Given the description of an element on the screen output the (x, y) to click on. 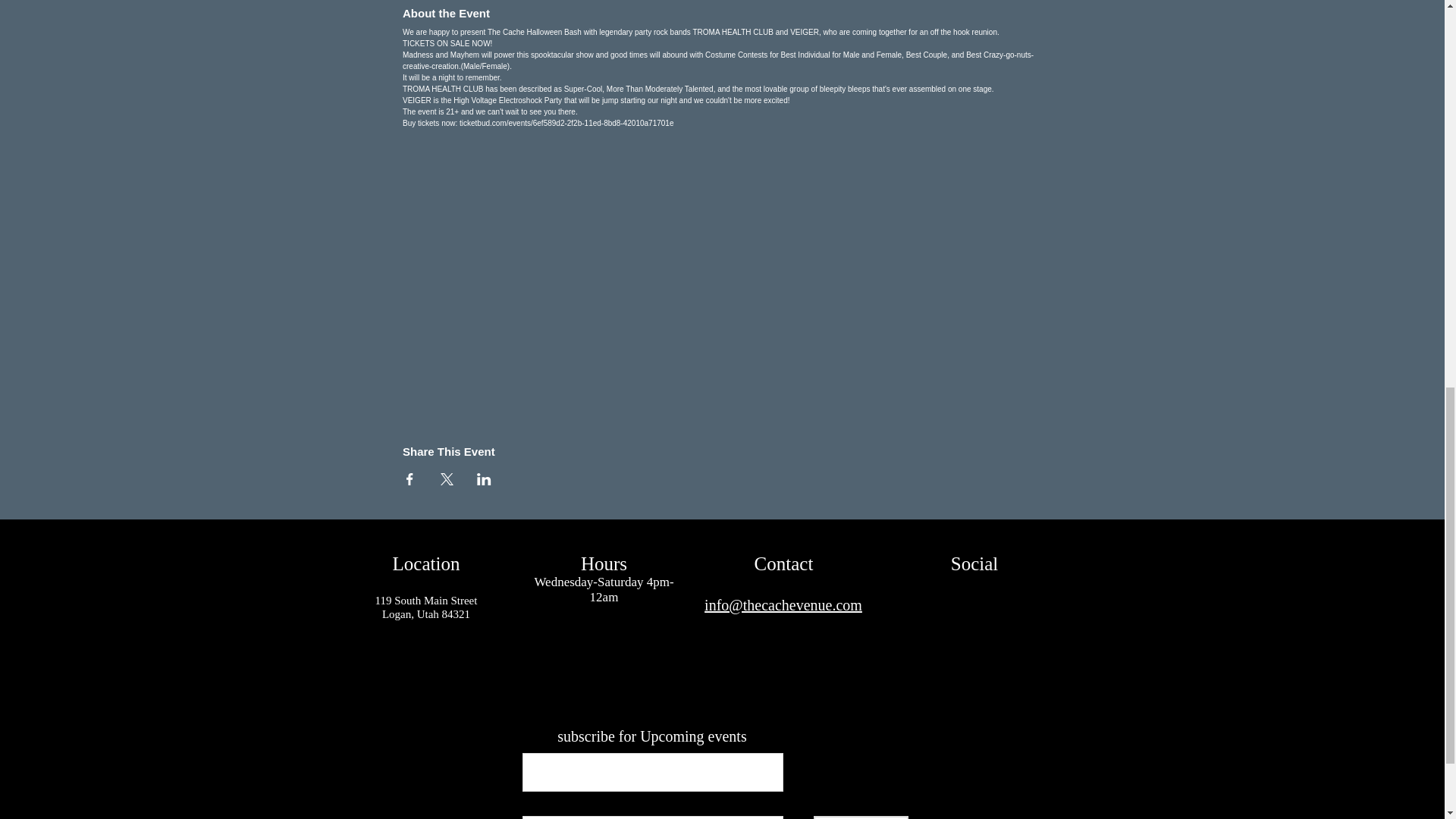
Subscribe (859, 817)
